Given the description of an element on the screen output the (x, y) to click on. 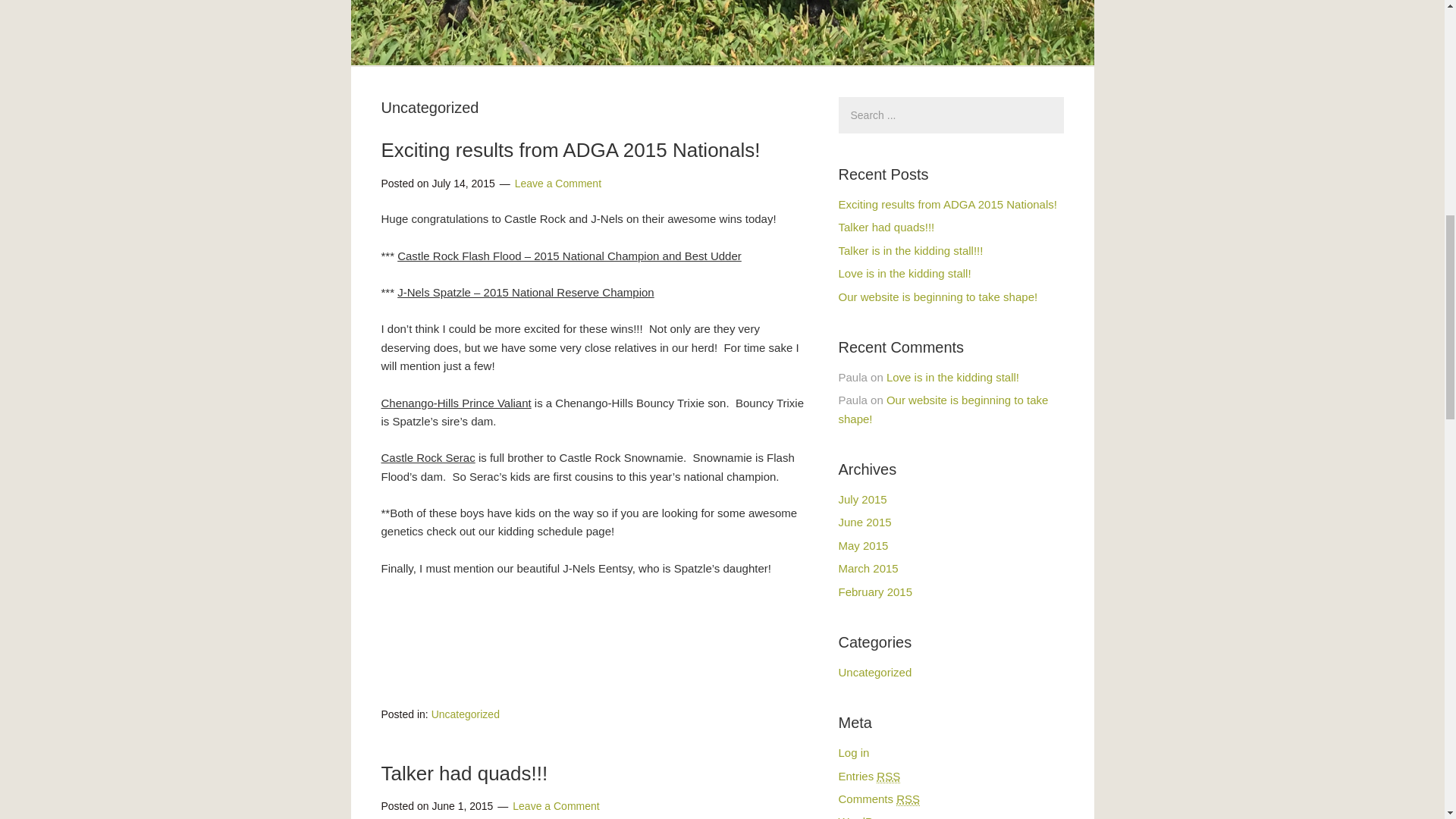
Our website is beginning to take shape! (943, 409)
Talker had quads!!! (886, 226)
Really Simple Syndication (908, 798)
Love is in the kidding stall! (952, 377)
Tuesday, July 14, 2015, 1:35 am (462, 183)
Search for: (951, 115)
Talker is in the kidding stall!!! (911, 250)
June 2015 (864, 521)
Leave a Comment (555, 806)
Talker had quads!!! (463, 773)
Really Simple Syndication (887, 775)
